Given the description of an element on the screen output the (x, y) to click on. 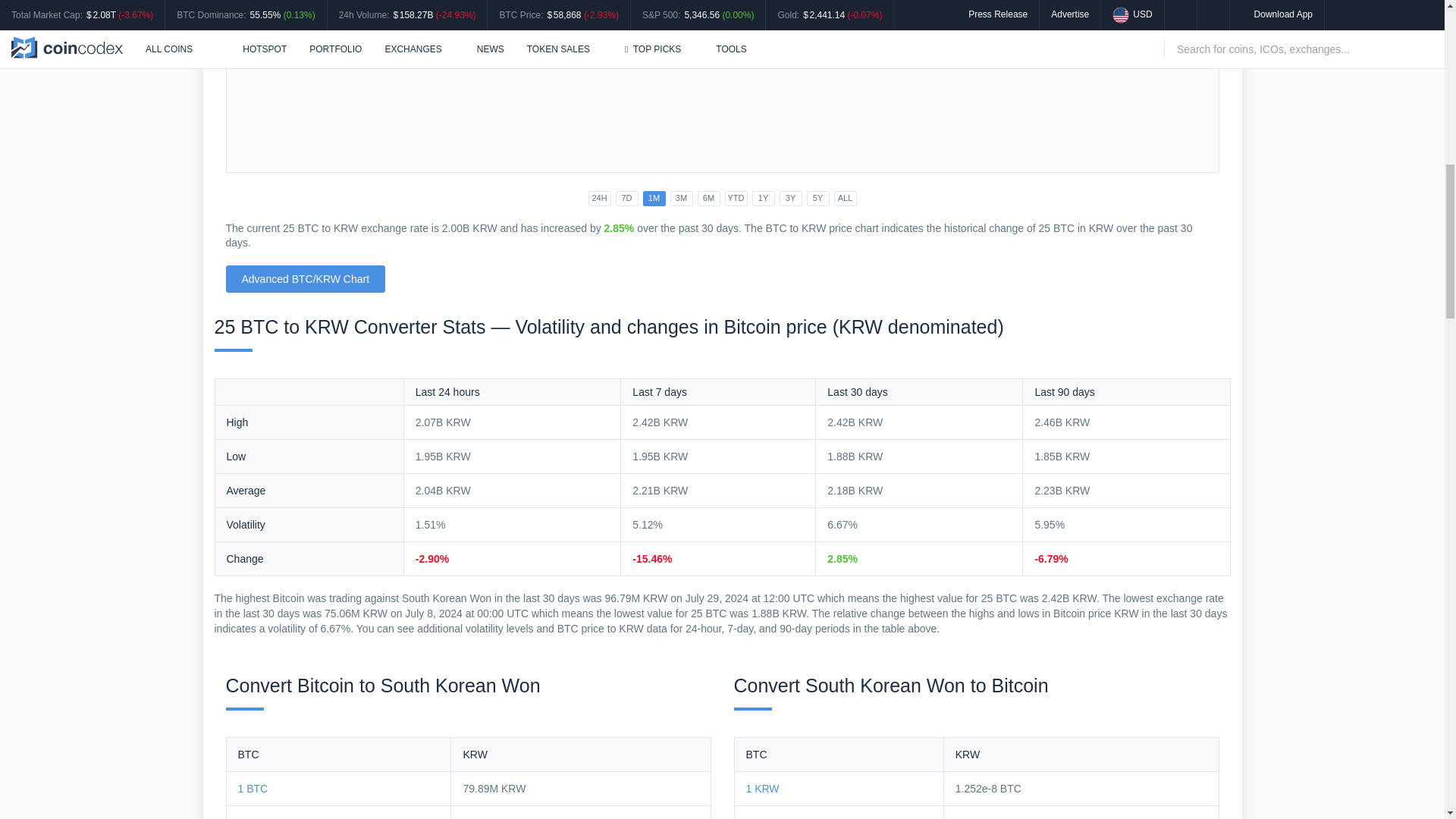
1 BTC (252, 788)
1 KRW (761, 788)
5 BTC (252, 817)
5 KRW (761, 817)
